Given the description of an element on the screen output the (x, y) to click on. 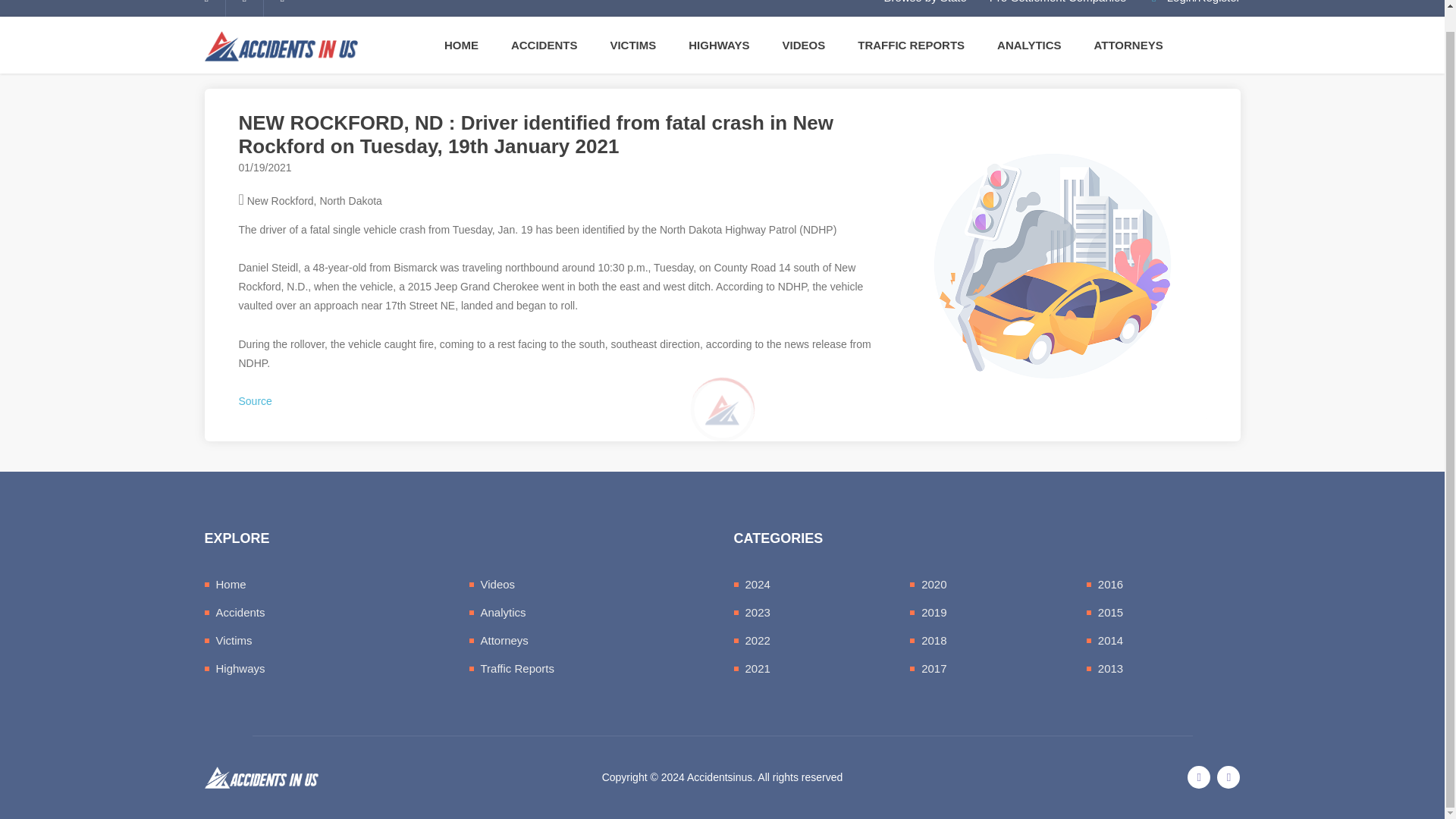
Highways (239, 667)
ANALYTICS (1035, 44)
2015 (1109, 612)
2022 (757, 640)
2021 (757, 667)
2019 (933, 612)
Accidents (239, 612)
Source (254, 400)
2016 (1109, 584)
Register (1219, 2)
